Given the description of an element on the screen output the (x, y) to click on. 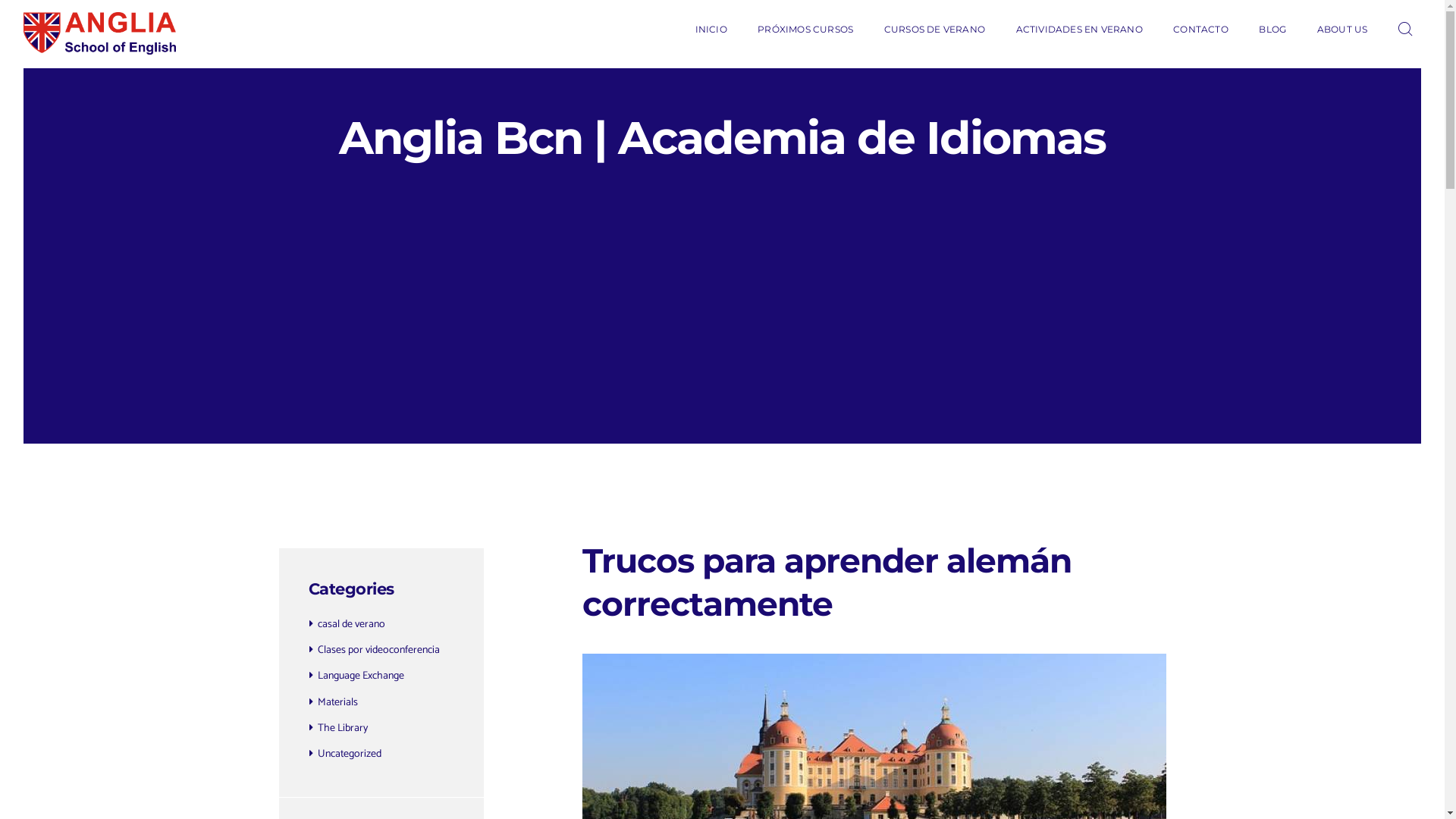
Language Exchange Element type: text (360, 675)
Uncategorized Element type: text (349, 753)
ABOUT US Element type: text (1341, 28)
Open search Element type: hover (1408, 29)
ACTIVIDADES EN VERANO Element type: text (1078, 28)
CONTACTO Element type: text (1200, 28)
BLOG Element type: text (1272, 28)
Clases por videoconferencia Element type: text (378, 649)
CURSOS DE VERANO Element type: text (935, 28)
The Library Element type: text (342, 728)
INICIO Element type: text (710, 28)
casal de verano Element type: text (351, 624)
Materials Element type: text (337, 702)
